Given the description of an element on the screen output the (x, y) to click on. 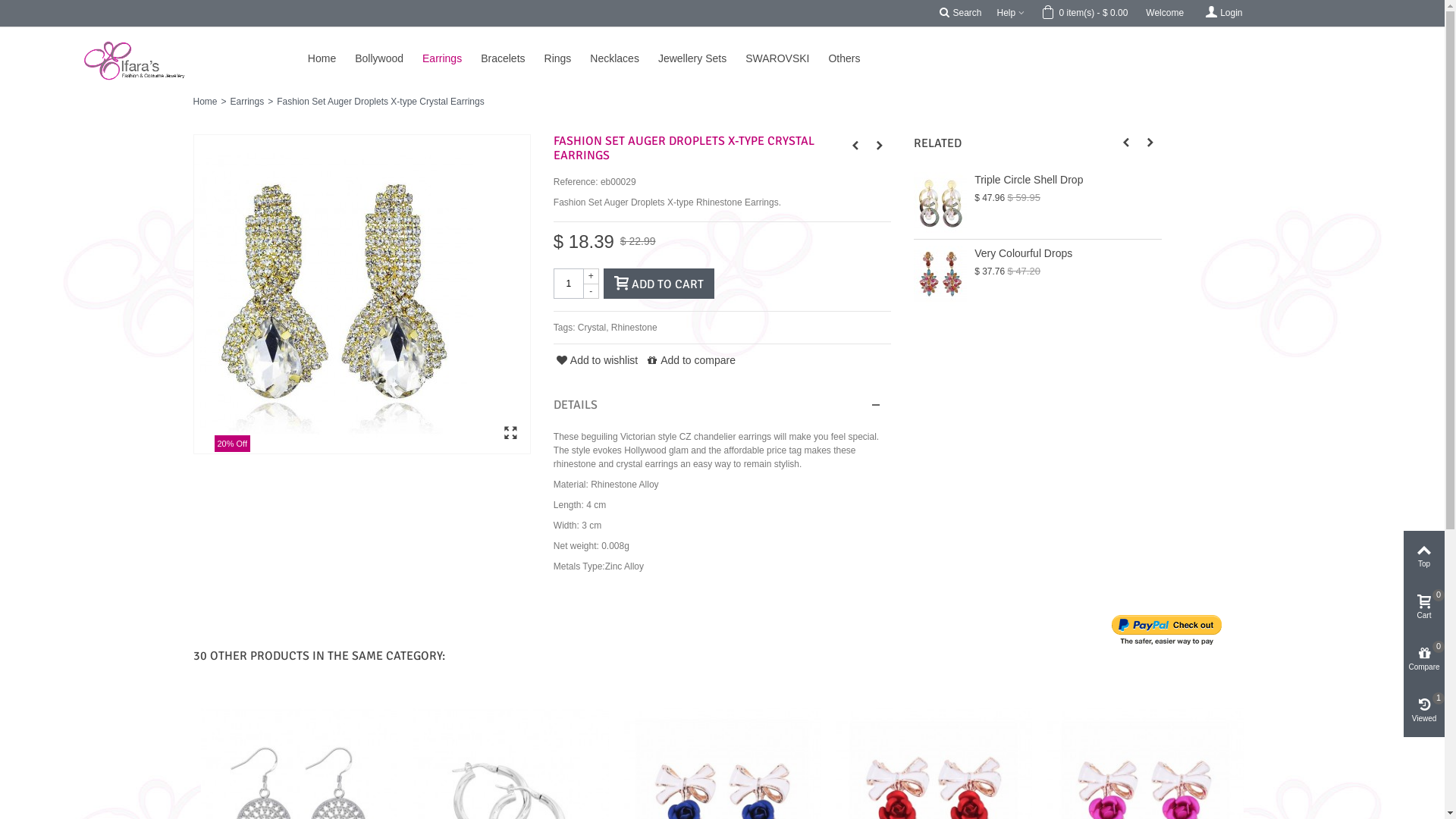
Top Element type: text (1423, 556)
Others Element type: text (853, 58)
+ Element type: text (591, 275)
  Element type: text (722, 404)
Login Element type: text (1221, 13)
Add to compare Element type: text (689, 360)
Fashion Set Auger Droplets X-type Crystal Earrings Element type: hover (362, 293)
Cart
0 Element type: text (1423, 607)
SWAROVSKI Element type: text (786, 58)
Earrings Element type: text (451, 58)
Rhinestone Element type: text (634, 327)
Compare
0 Element type: text (1423, 659)
Very Colourful Drops Element type: hover (939, 275)
Add to wishlist Element type: text (595, 360)
Triple Circle Shell Drop Element type: hover (939, 202)
Fashion Set Auger Droplets X-type Crystal Earrings Element type: hover (509, 433)
Bracelets Element type: text (511, 58)
Necklaces Element type: text (623, 58)
Rings Element type: text (567, 58)
Earrings Element type: text (247, 101)
- Element type: text (591, 290)
Very Colourful Drops Element type: text (1067, 253)
Elfara's - Affordable Fashion & Costume Jewellery Element type: hover (20, 33)
0 item(s) - $ 0.00 Element type: text (1084, 13)
Jewellery Sets Element type: text (701, 58)
Triple Circle Shell Drop Element type: text (1067, 180)
Home Element type: text (330, 58)
Fashion Set Auger Droplets X-type Crystal Earrings Element type: hover (333, 293)
Bollywood Element type: text (388, 58)
ADD TO CART Element type: text (658, 283)
Home Element type: text (204, 101)
Crystal Element type: text (591, 327)
Viewed
1 Element type: text (1423, 711)
